Given the description of an element on the screen output the (x, y) to click on. 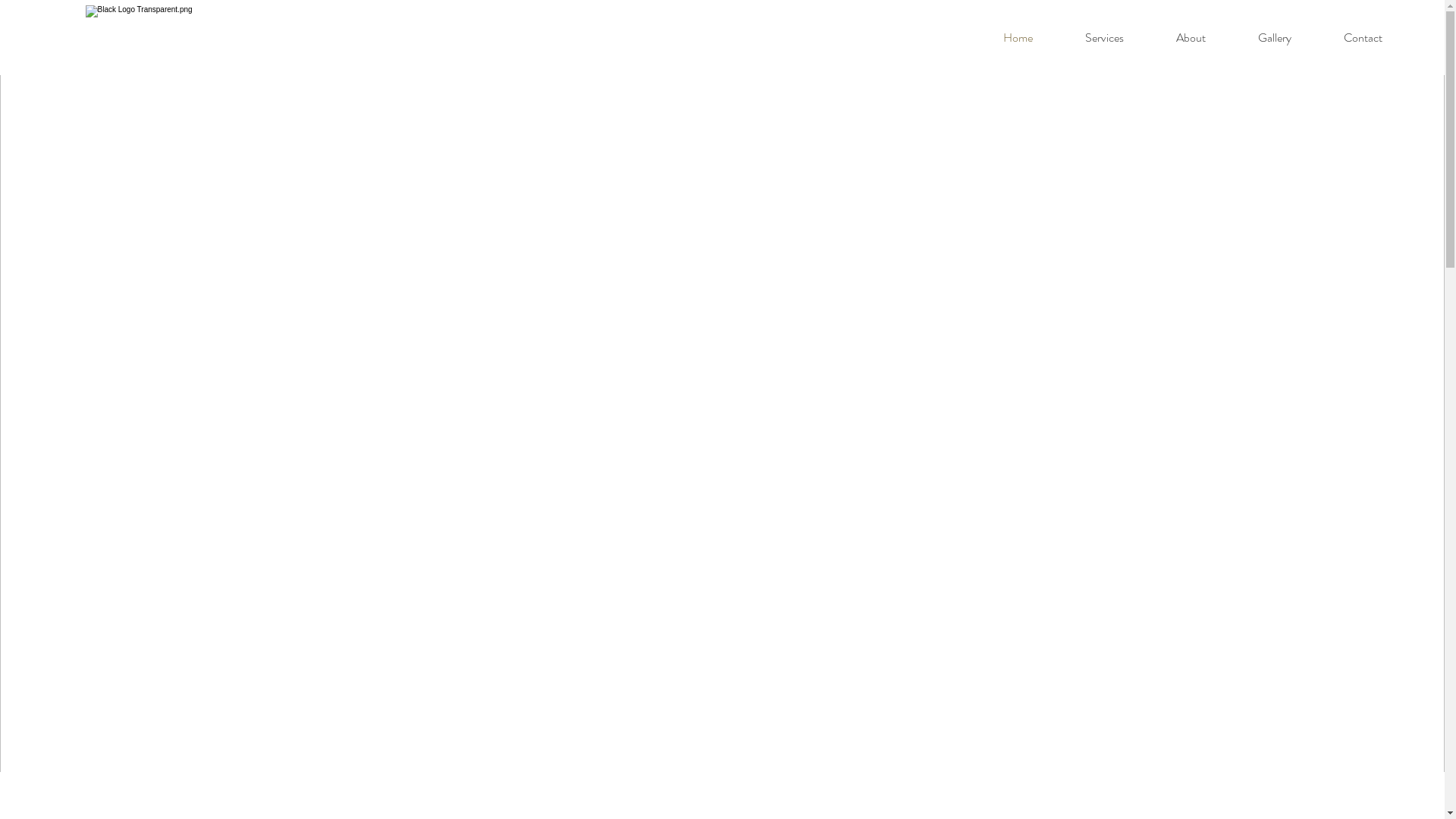
Gallery Element type: text (1274, 37)
Home Element type: text (1017, 37)
Services Element type: text (1103, 37)
About Element type: text (1190, 37)
Contact Element type: text (1362, 37)
